Given the description of an element on the screen output the (x, y) to click on. 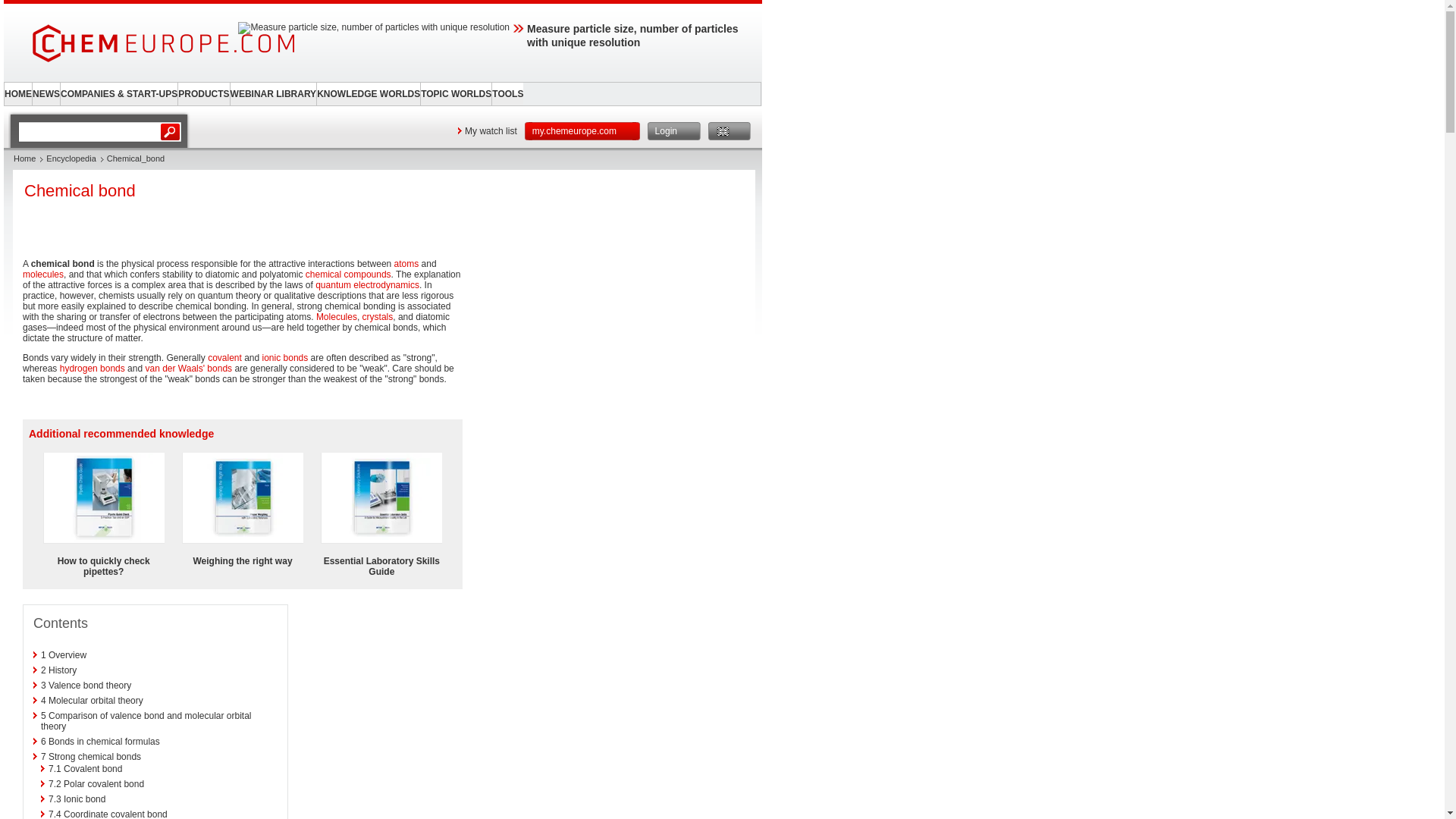
Chemical compound (348, 274)
Essential Laboratory Skills Guide (381, 566)
Home (23, 157)
hydrogen bonds (92, 368)
4 Molecular orbital theory (91, 700)
ionic bonds (285, 357)
6 Bonds in chemical formulas (100, 741)
molecules (43, 274)
Molecules (335, 317)
